Given the description of an element on the screen output the (x, y) to click on. 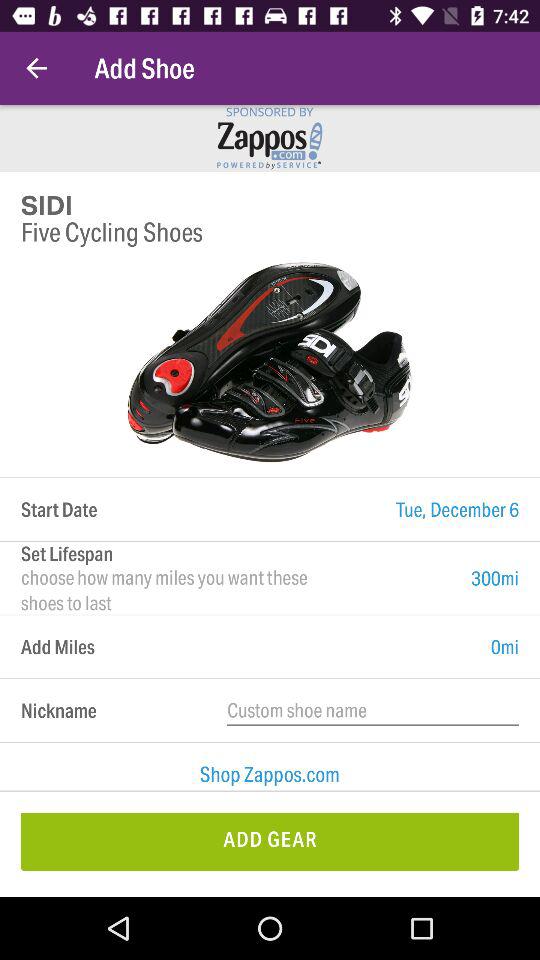
choose add gear item (270, 841)
